Given the description of an element on the screen output the (x, y) to click on. 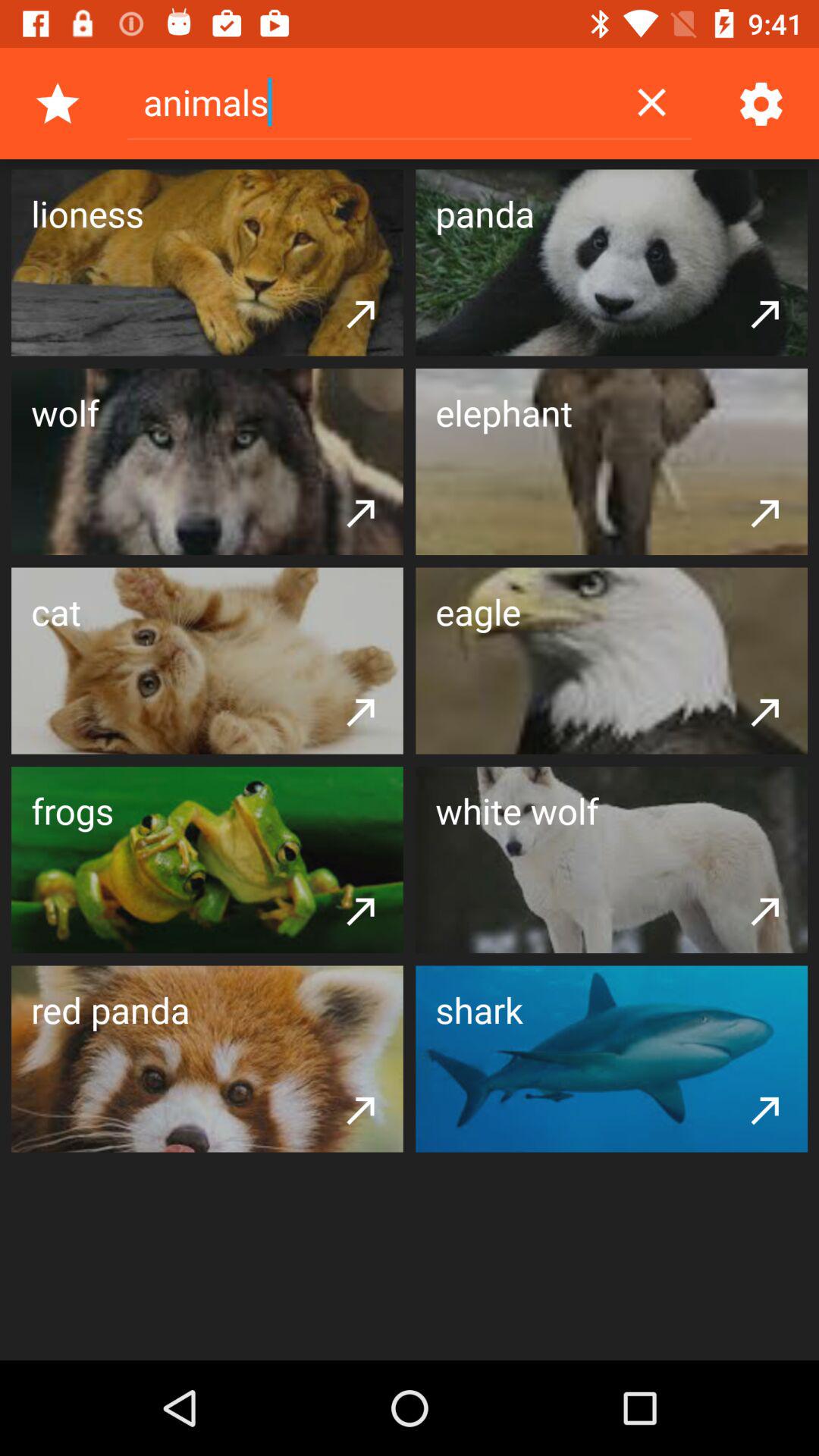
launch the item below the white wolf (765, 910)
